Given the description of an element on the screen output the (x, y) to click on. 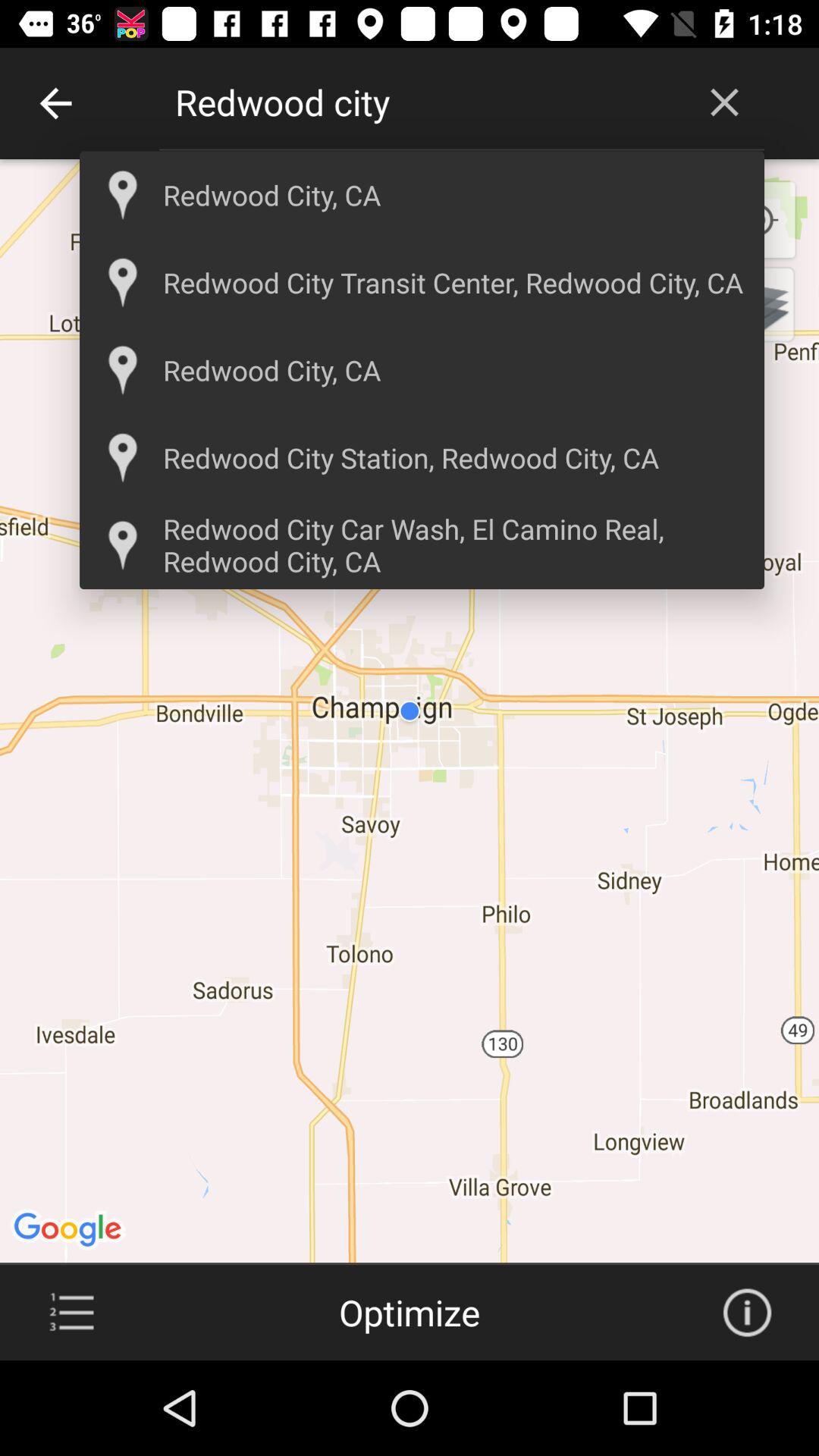
change map type (757, 304)
